Given the description of an element on the screen output the (x, y) to click on. 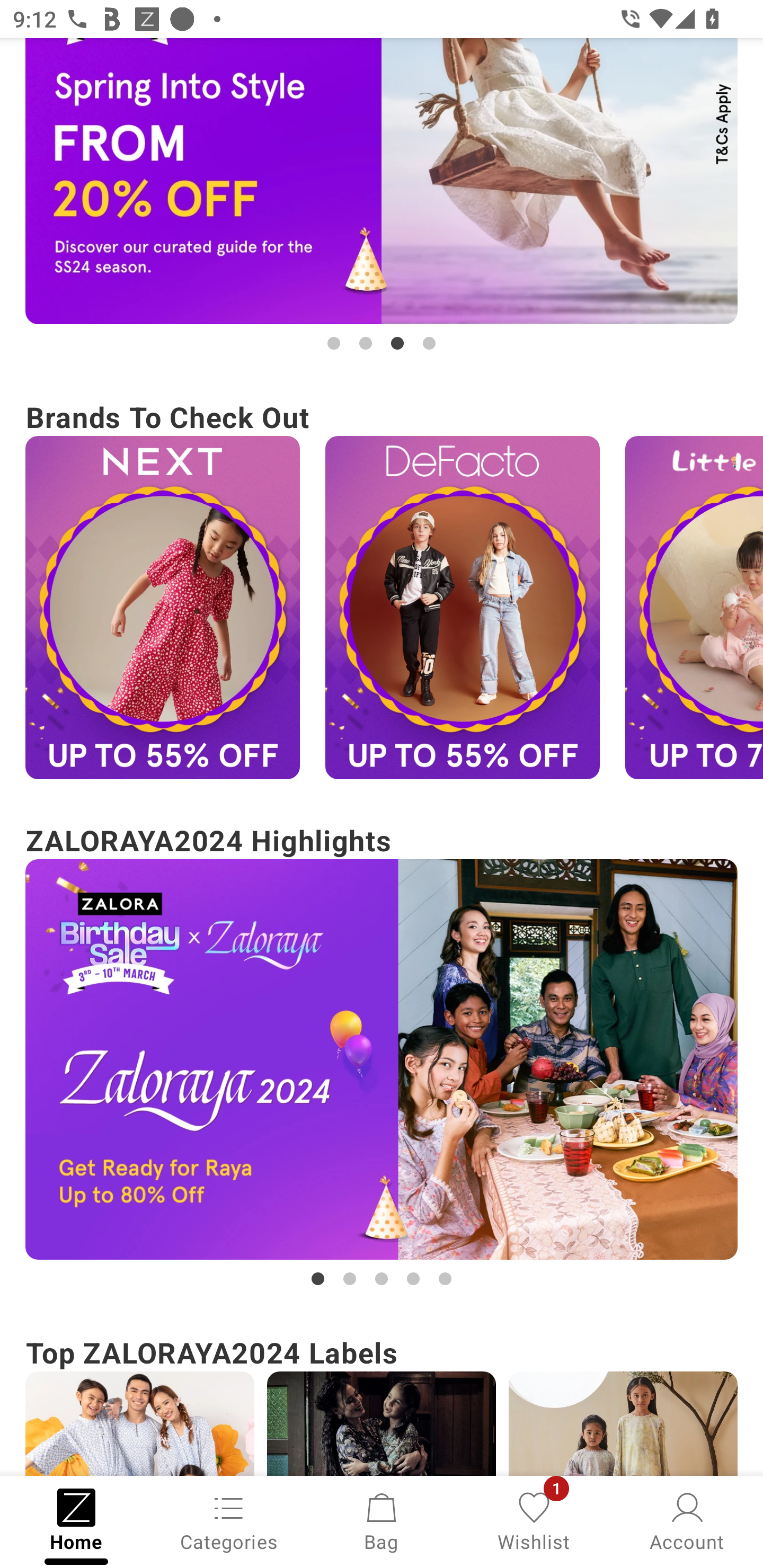
Campaign banner (381, 180)
Campaign banner (162, 607)
Campaign banner (462, 607)
Campaign banner (693, 607)
ZALORAYA2024 Highlights Campaign banner (381, 1054)
Campaign banner (381, 1059)
Campaign banner (139, 1423)
Campaign banner (381, 1423)
Campaign banner (622, 1423)
Categories (228, 1519)
Bag (381, 1519)
Wishlist, 1 new notification Wishlist (533, 1519)
Account (686, 1519)
